Given the description of an element on the screen output the (x, y) to click on. 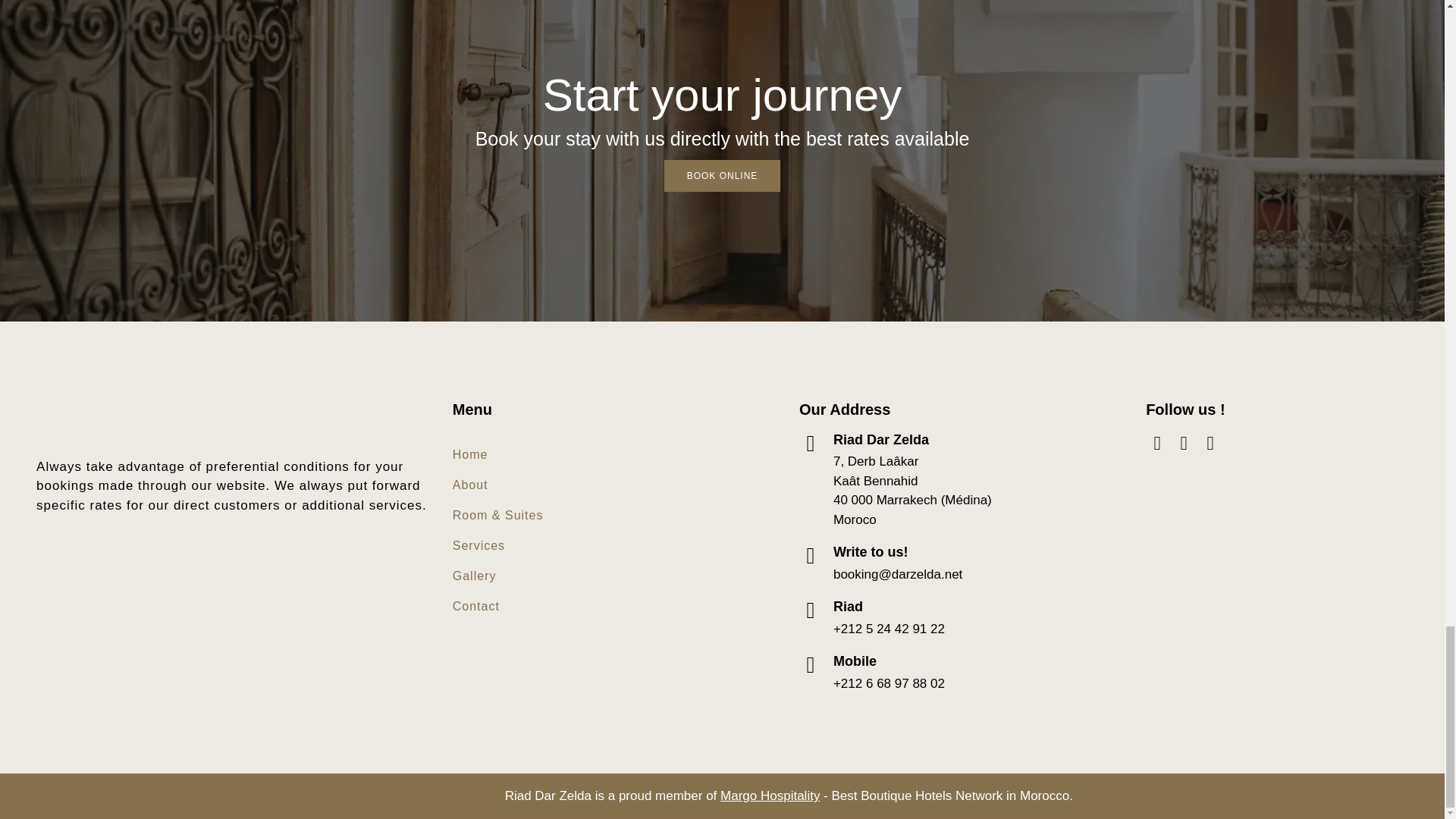
Home (497, 454)
BOOK ONLINE (721, 175)
Services (497, 545)
About (497, 485)
